Given the description of an element on the screen output the (x, y) to click on. 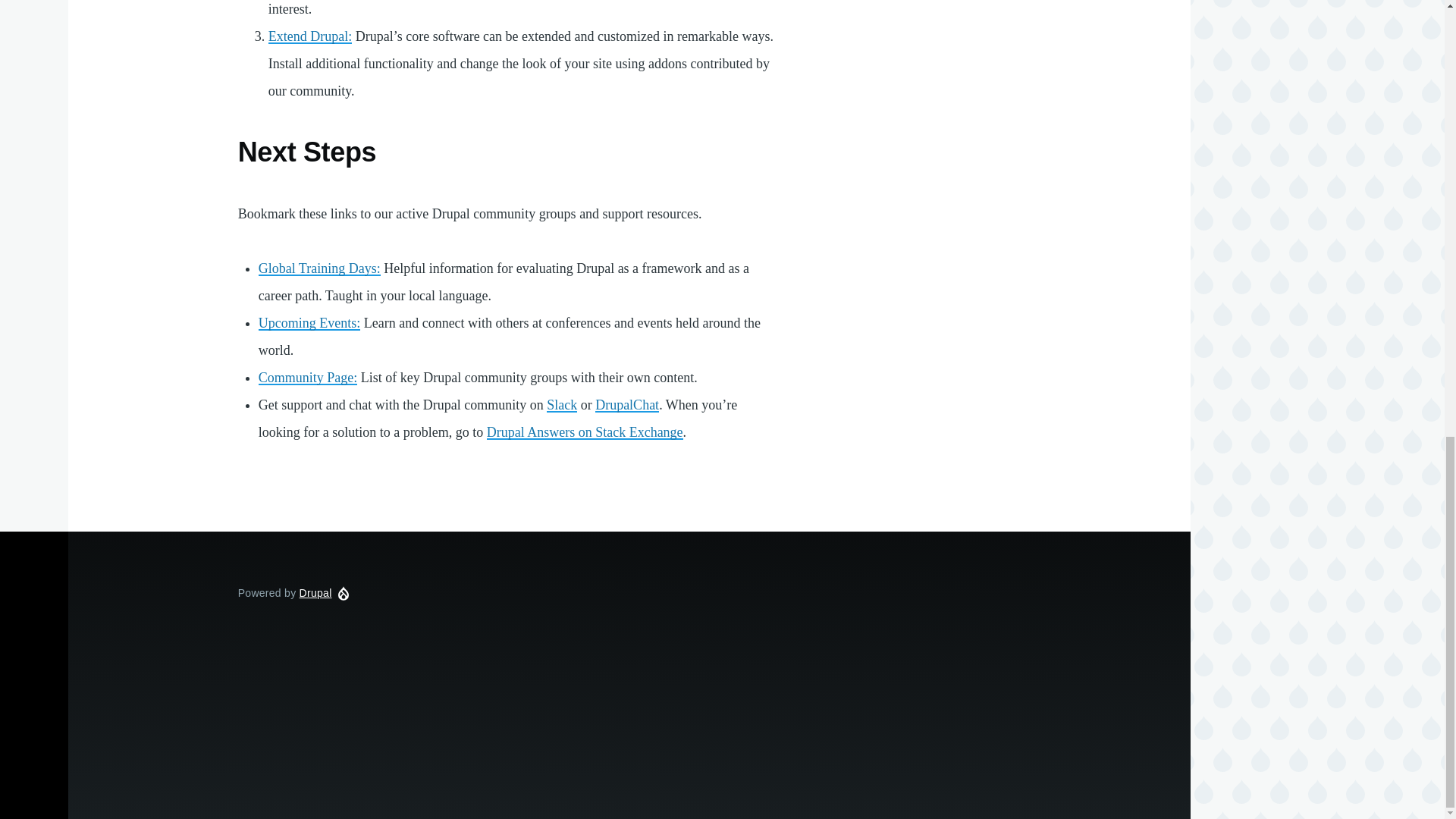
Extend Drupal: (309, 36)
Slack (561, 404)
Global Training Days: (319, 268)
Upcoming Events: (309, 322)
Drupal Answers on Stack Exchange (584, 432)
Community Page: (308, 377)
Drupal (315, 592)
DrupalChat (627, 404)
